Given the description of an element on the screen output the (x, y) to click on. 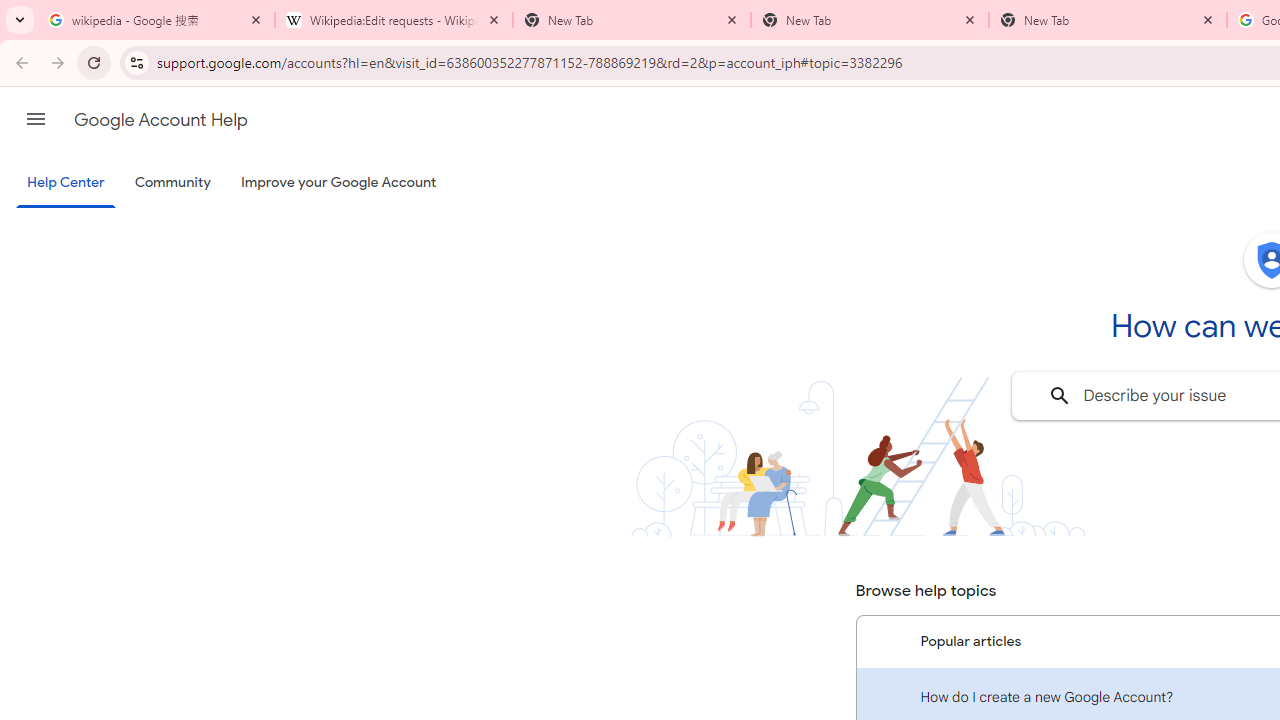
Main menu (35, 119)
Wikipedia:Edit requests - Wikipedia (394, 20)
Google Account Help (160, 119)
New Tab (870, 20)
Community (171, 183)
